Given the description of an element on the screen output the (x, y) to click on. 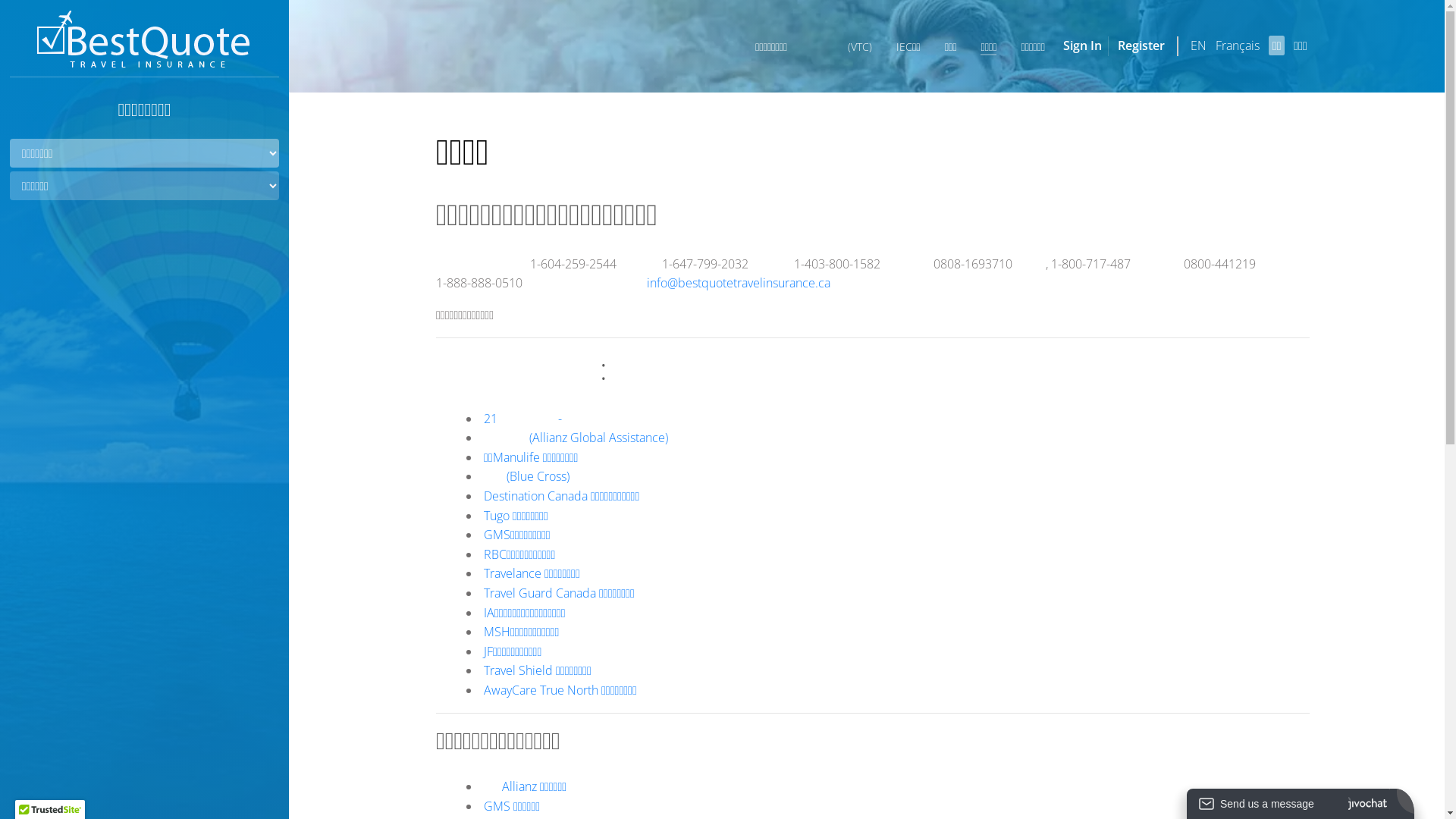
info@bestquotetravelinsurance.ca Element type: text (738, 282)
Your guide to hassle free travel insurance Element type: hover (143, 41)
Skip to main content Element type: text (59, 0)
Register Element type: text (1140, 45)
Sign In Element type: text (1082, 45)
EN Element type: text (1198, 45)
